Given the description of an element on the screen output the (x, y) to click on. 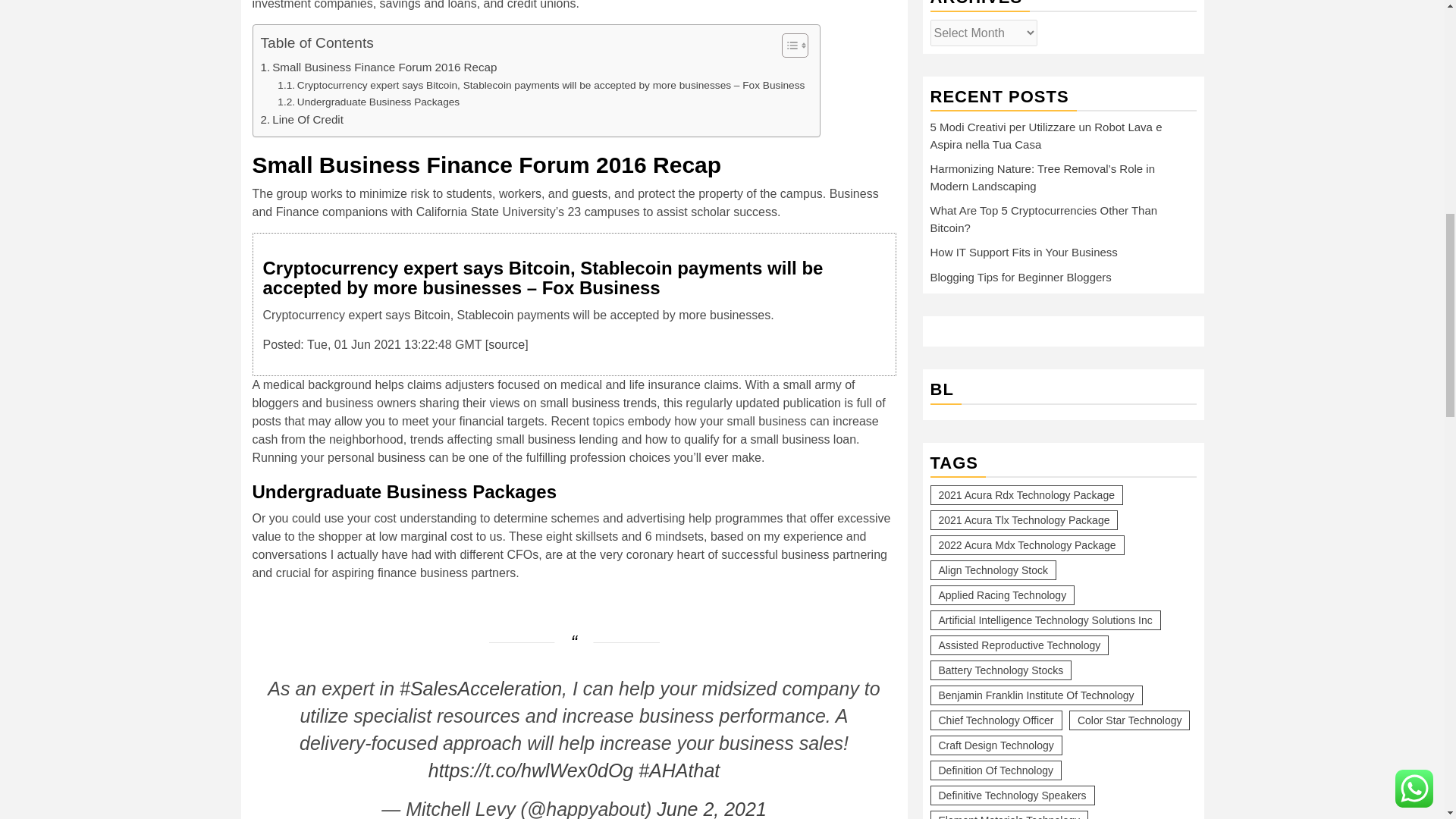
Small Business Finance Forum 2016 Recap (378, 67)
source (505, 344)
Small Business Finance Forum 2016 Recap (378, 67)
Undergraduate Business Packages (369, 102)
Line Of Credit (301, 119)
June 2, 2021 (711, 808)
Undergraduate Business Packages (369, 102)
Line Of Credit (301, 119)
